Given the description of an element on the screen output the (x, y) to click on. 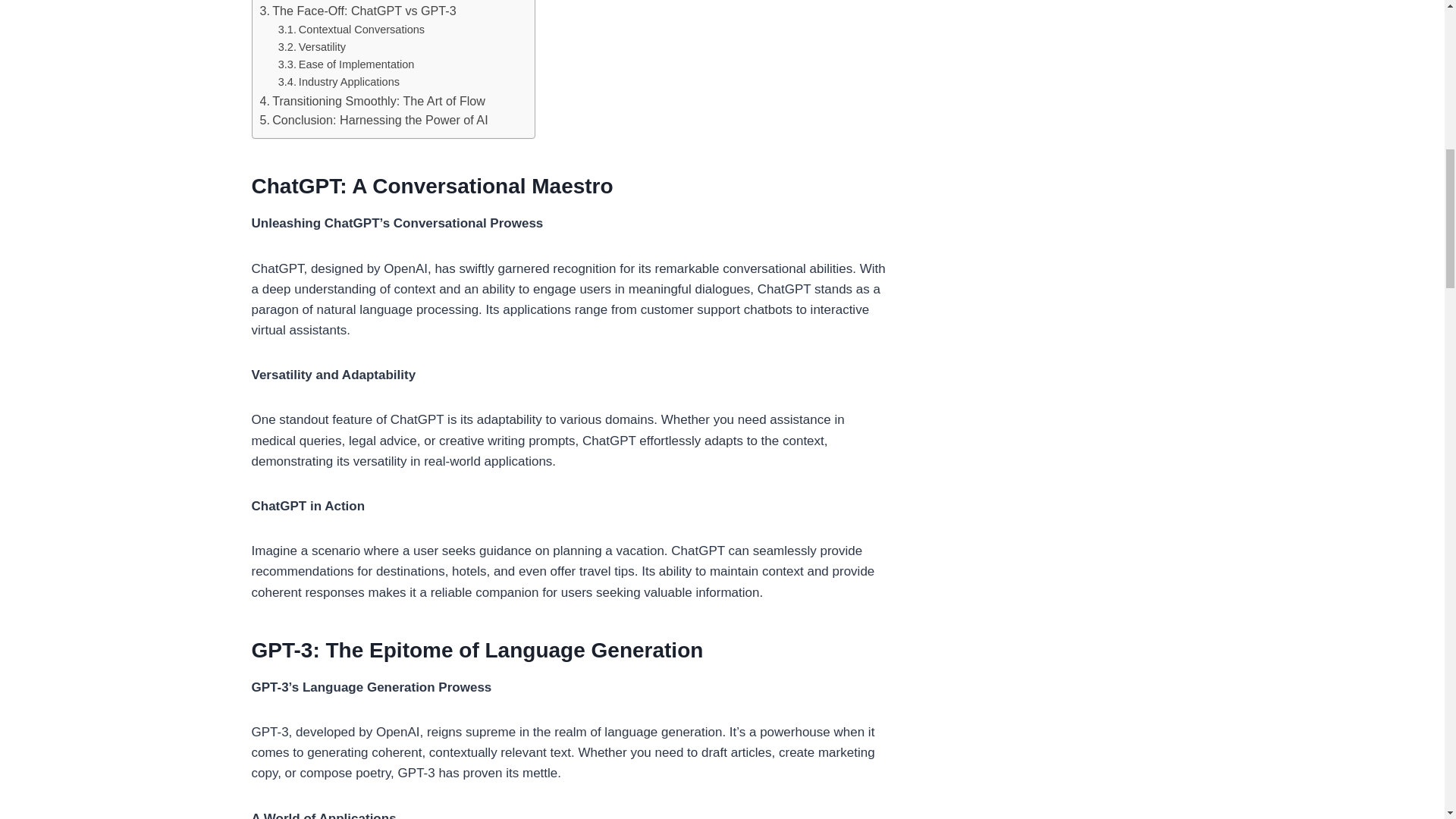
Transitioning Smoothly: The Art of Flow (371, 101)
Versatility (312, 47)
Versatility (312, 47)
Industry Applications (338, 81)
Ease of Implementation (346, 64)
Contextual Conversations (351, 29)
Contextual Conversations (351, 29)
Conclusion: Harnessing the Power of AI (373, 120)
